Given the description of an element on the screen output the (x, y) to click on. 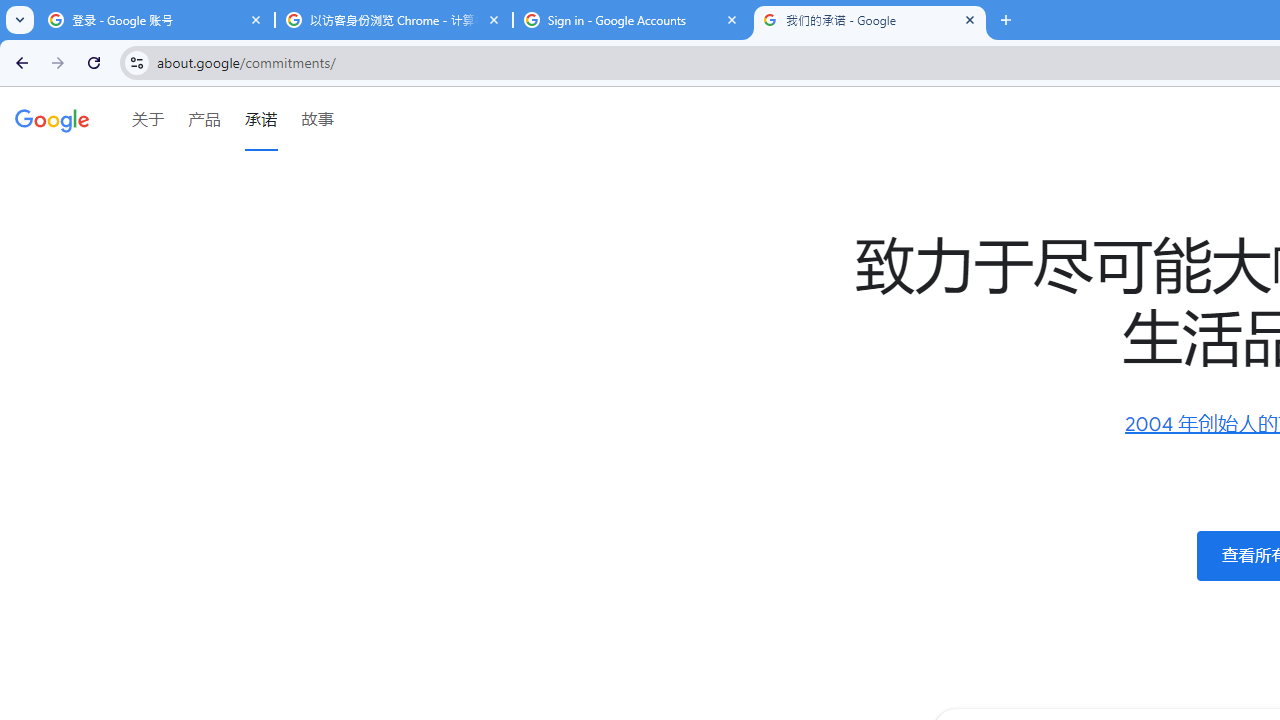
Sign in - Google Accounts (632, 20)
